Given the description of an element on the screen output the (x, y) to click on. 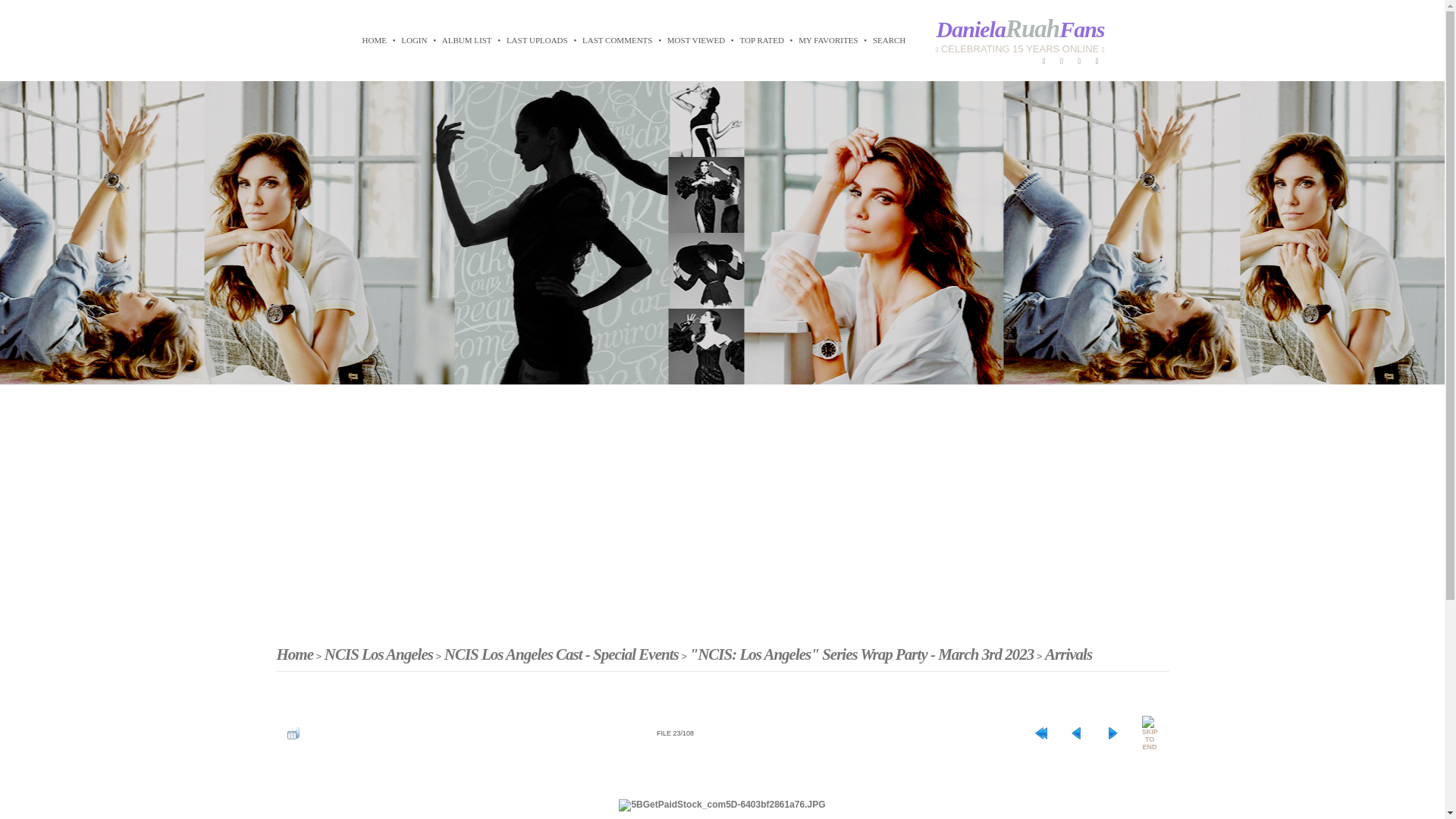
Arrivals (1068, 654)
NCIS Los Angeles Cast - Special Events (561, 654)
LAST COMMENTS (616, 39)
Log me in (413, 39)
MY FAVORITES (828, 39)
ALBUM LIST (467, 39)
HOME (373, 39)
Show top rated items (761, 39)
Go to the album list (467, 39)
Return to start (1040, 732)
"NCIS: Los Angeles" Series Wrap Party - March 3rd 2023 (861, 654)
Search the gallery (888, 39)
Show most viewed items (695, 39)
MOST VIEWED (695, 39)
LAST UPLOADS (536, 39)
